Given the description of an element on the screen output the (x, y) to click on. 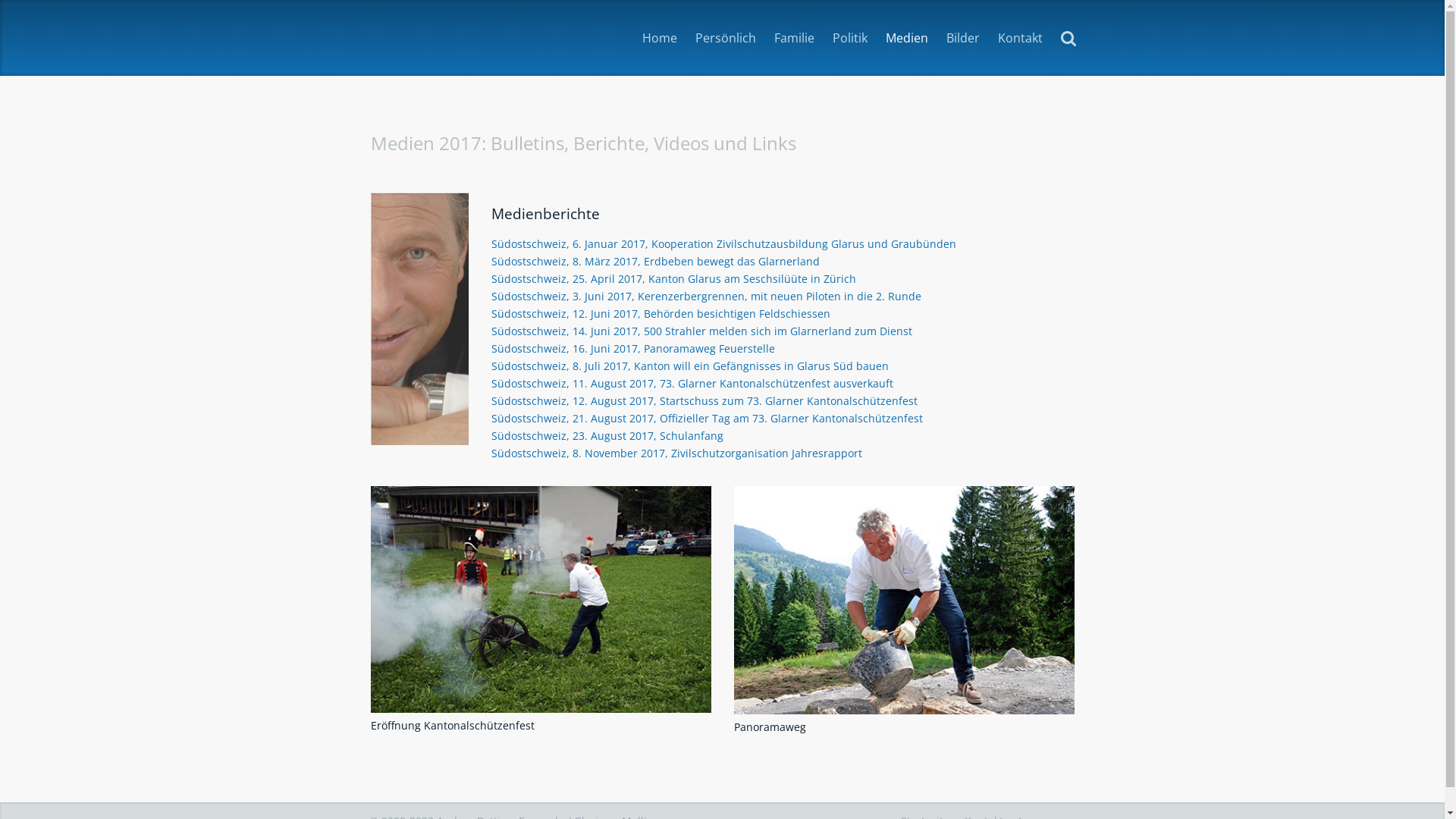
Politik Element type: text (849, 37)
Familie Element type: text (793, 37)
Home Element type: text (658, 37)
Bilder Element type: text (962, 37)
Medien Element type: text (906, 37)
Kontakt Element type: text (1019, 37)
